Given the description of an element on the screen output the (x, y) to click on. 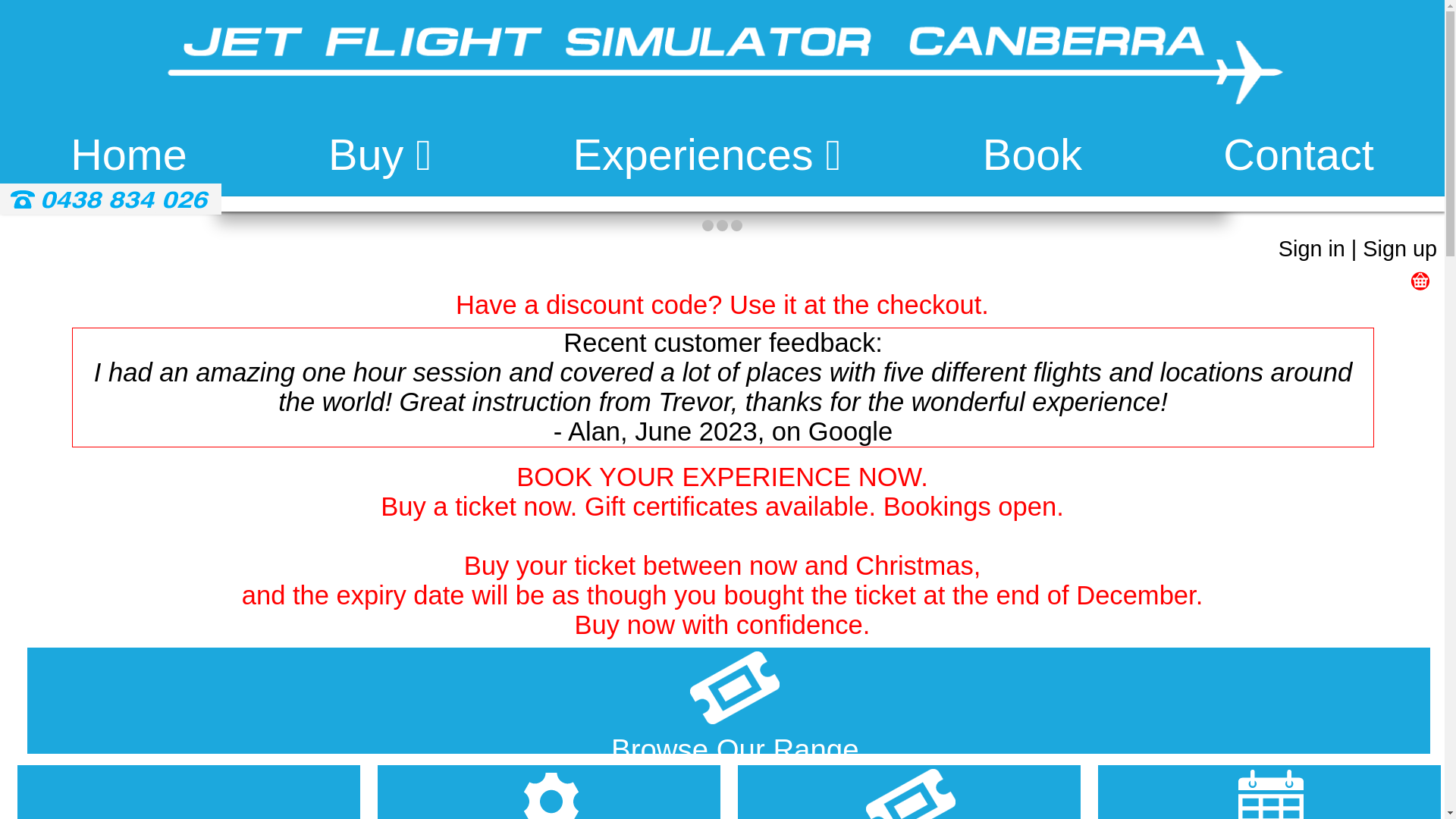
Experiences Element type: text (707, 156)
Contact Element type: text (1298, 156)
Home Element type: text (128, 156)
Book Element type: text (1032, 156)
Buy Element type: text (379, 156)
Sign in | Sign up Element type: text (1357, 248)
